Given the description of an element on the screen output the (x, y) to click on. 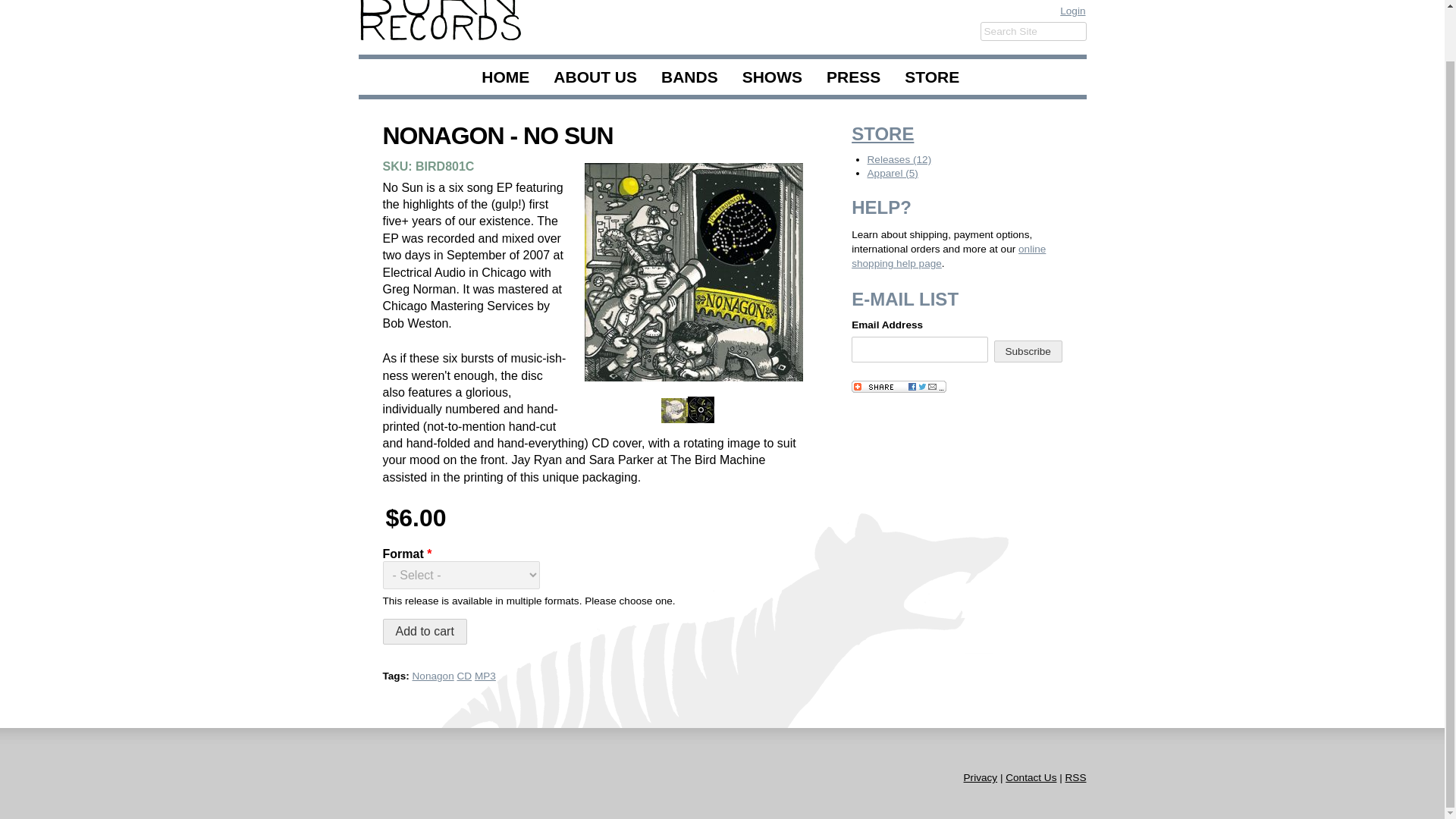
Send an e-mail to Controlled Burn Records (1031, 777)
Nonagon (433, 675)
Enter the terms you wish to search for. (1032, 31)
Login (1071, 10)
online shopping help page (948, 256)
Add to cart (423, 631)
MP3 (485, 675)
Search Site (1032, 31)
BANDS (689, 76)
RSS (1075, 777)
SHOWS (771, 76)
Contact Us (1031, 777)
Add to cart (423, 631)
STORE (882, 133)
ABOUT US (595, 76)
